Given the description of an element on the screen output the (x, y) to click on. 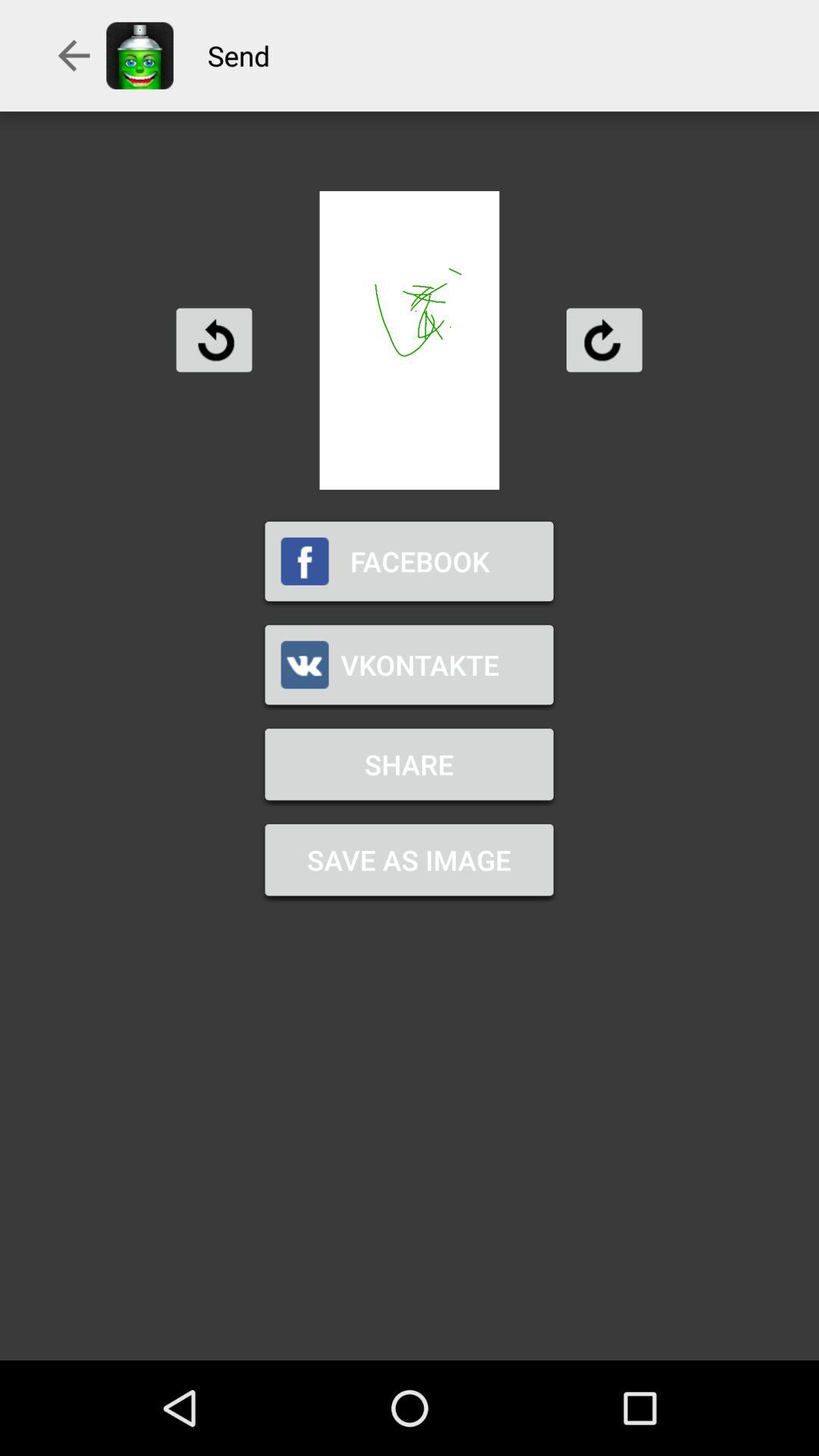
go to next (604, 339)
